Given the description of an element on the screen output the (x, y) to click on. 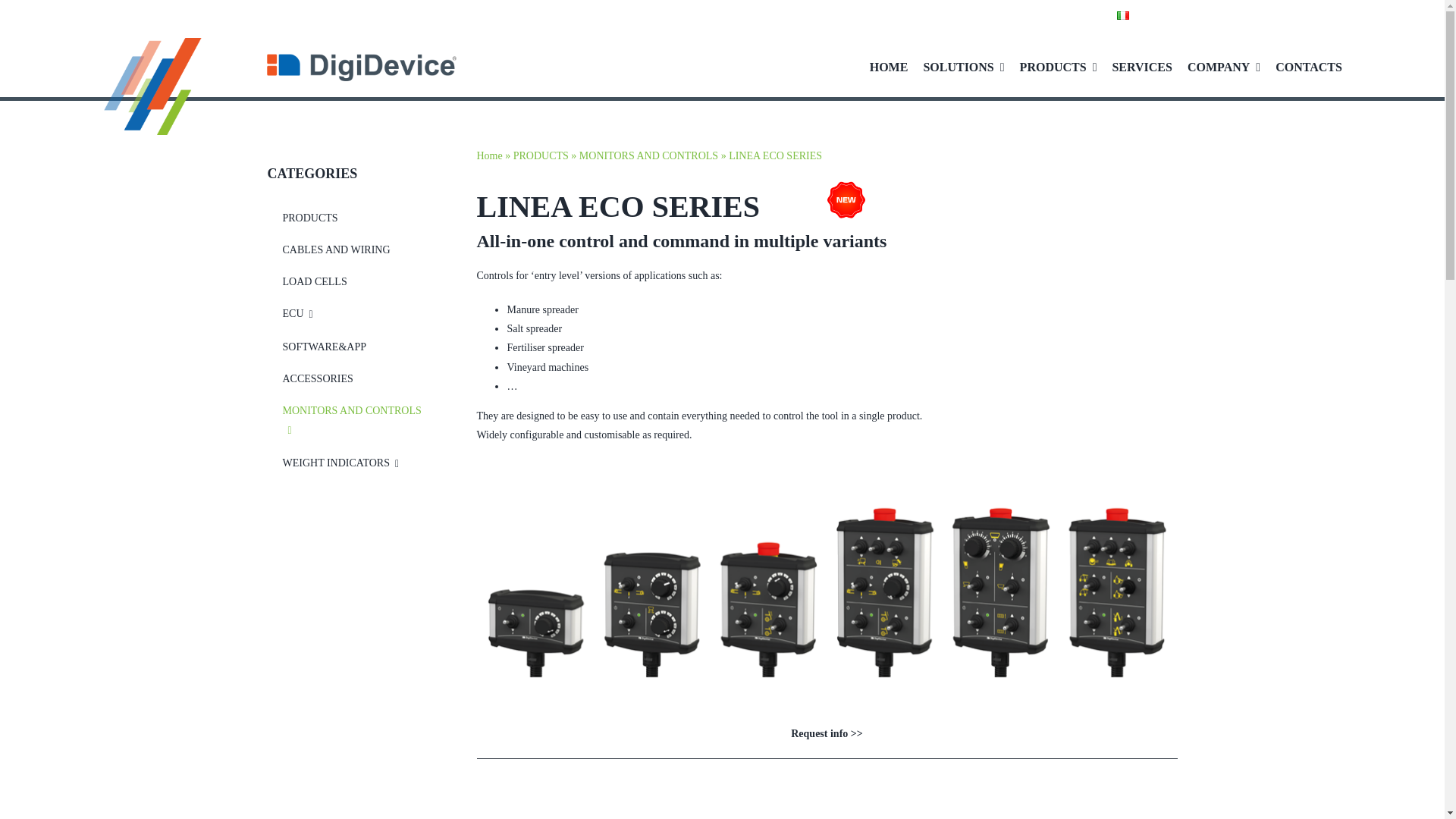
New product (845, 199)
SOLUTIONS (963, 67)
SERVICES (1141, 67)
PRODUCTS (1058, 67)
Back to Parent Page (357, 218)
PulsanteFungo-Digidevice2 (603, 811)
HOME (888, 67)
